Given the description of an element on the screen output the (x, y) to click on. 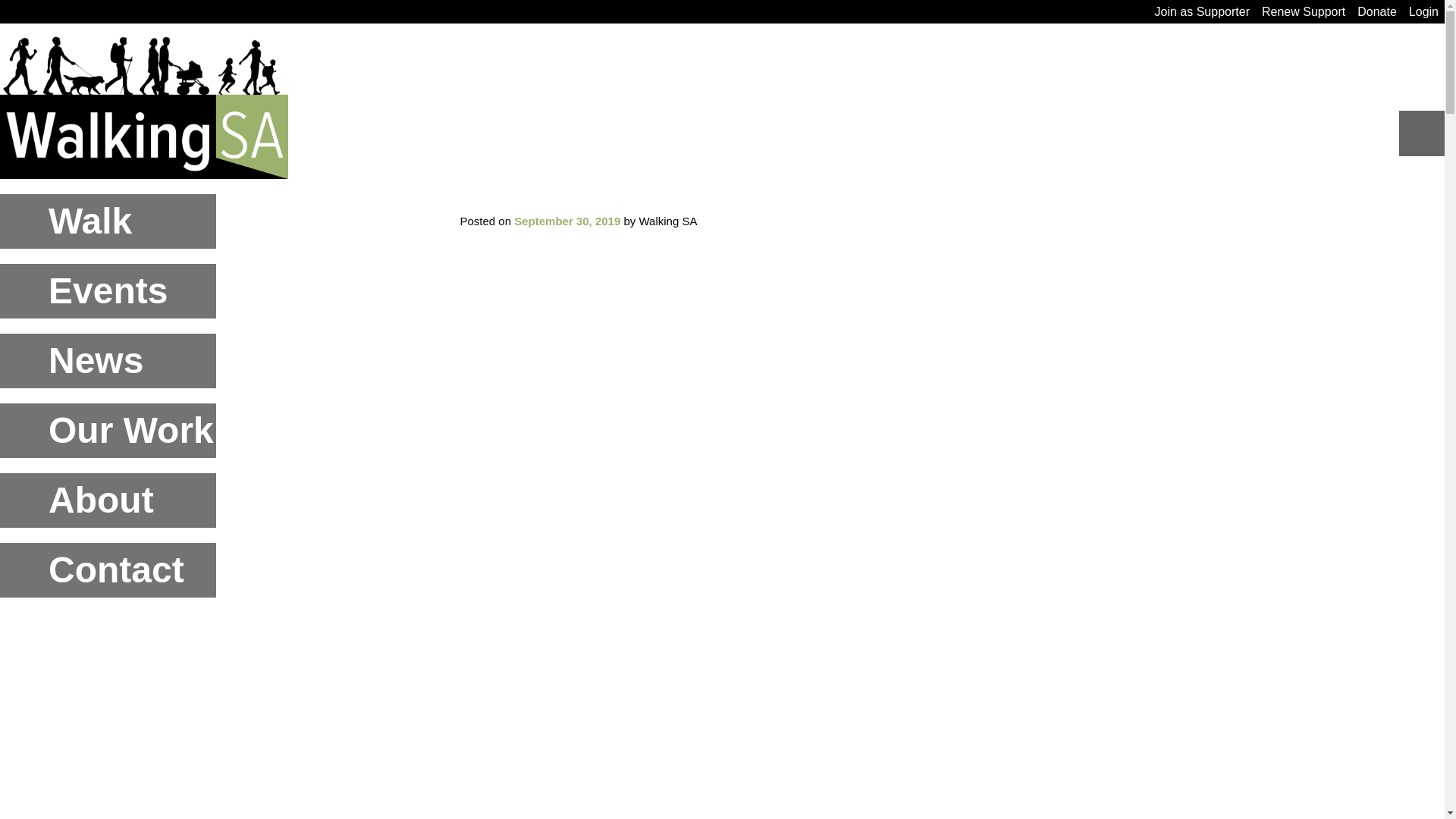
Events (107, 290)
Walk (107, 221)
Our Work (107, 430)
News (107, 360)
About (107, 500)
Donate (1377, 11)
Join as Supporter (1201, 11)
Renew Support (1303, 11)
